Given the description of an element on the screen output the (x, y) to click on. 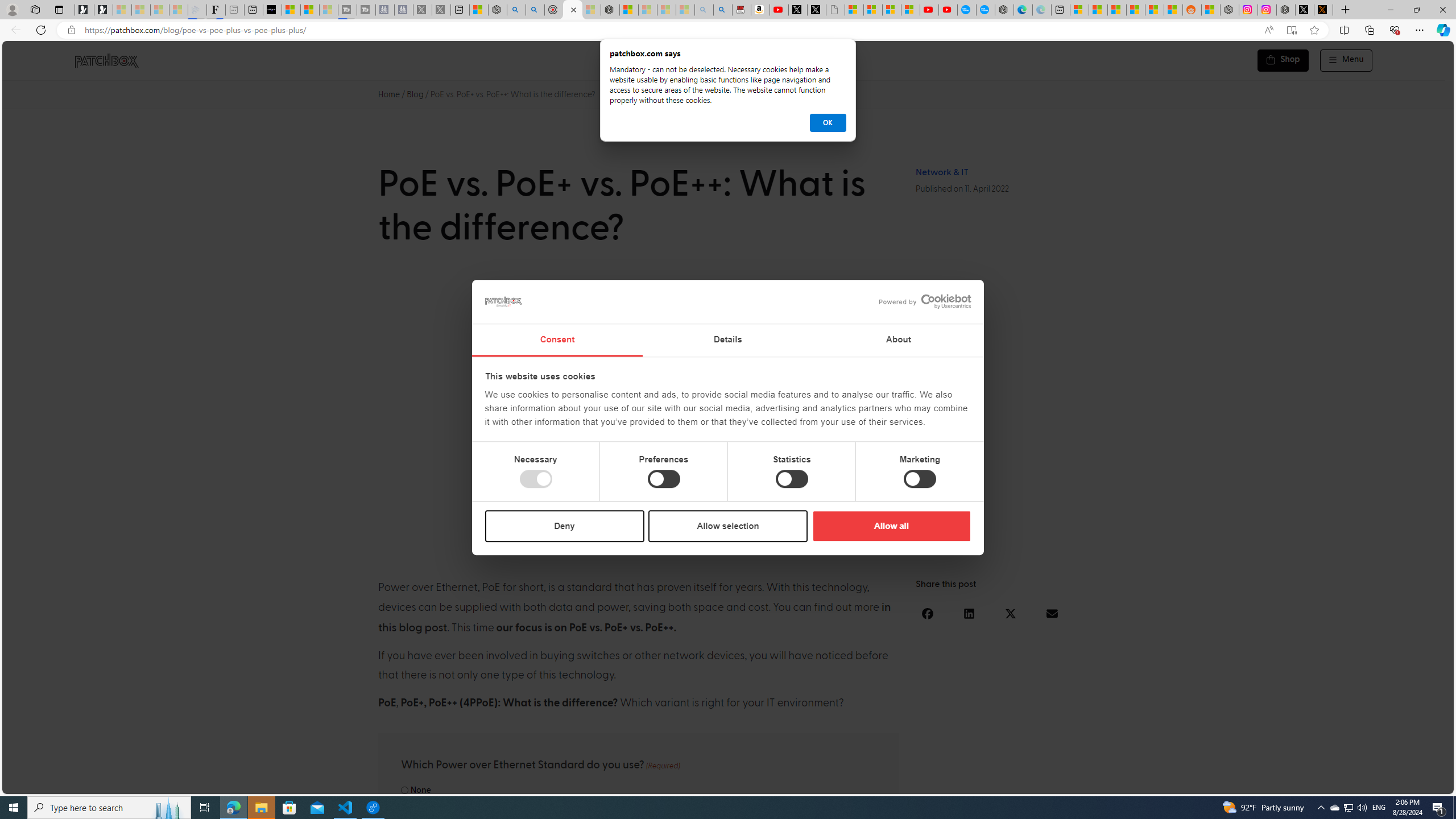
OK (827, 122)
